Given the description of an element on the screen output the (x, y) to click on. 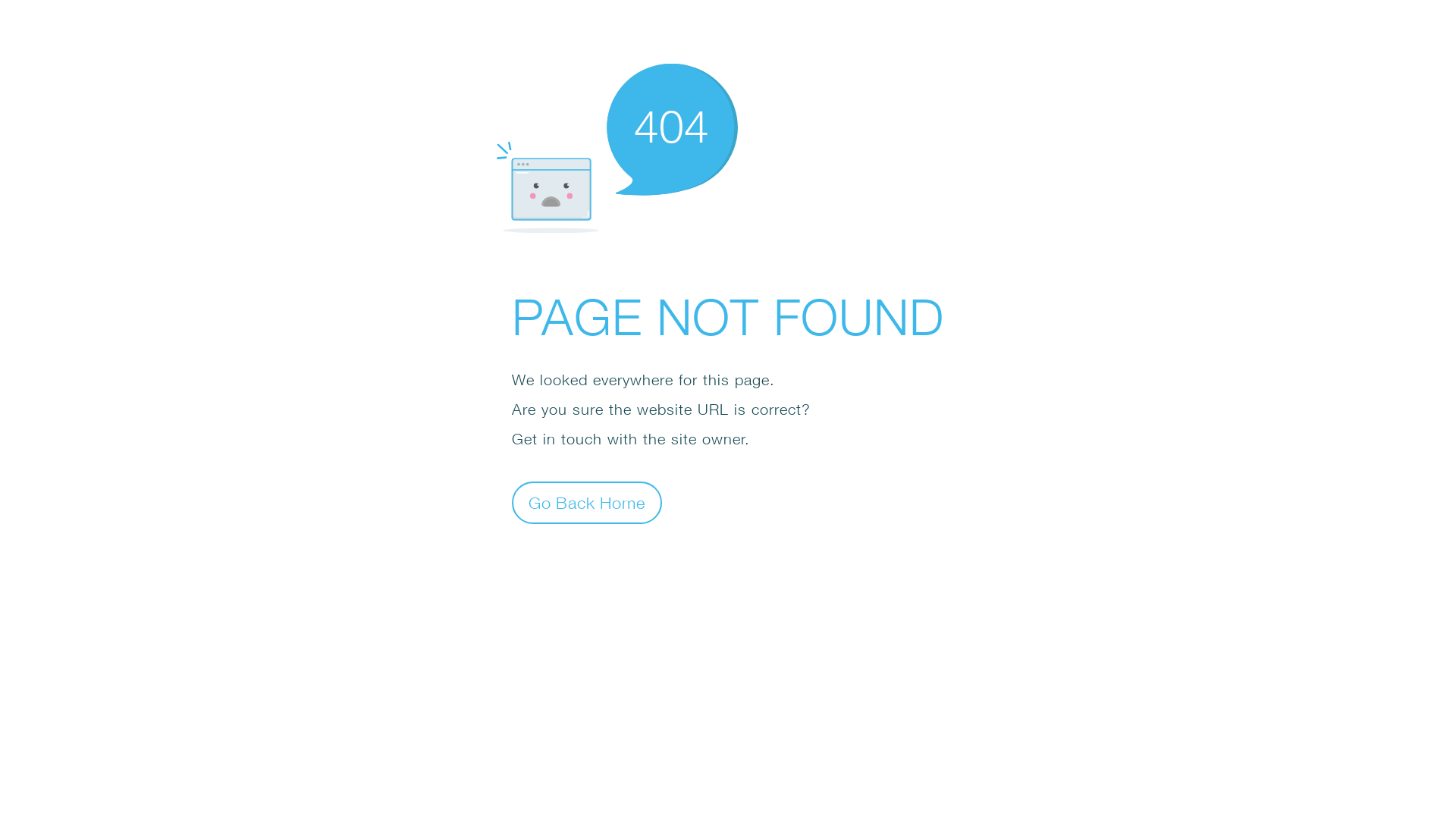
Go Back Home Element type: text (586, 502)
